Given the description of an element on the screen output the (x, y) to click on. 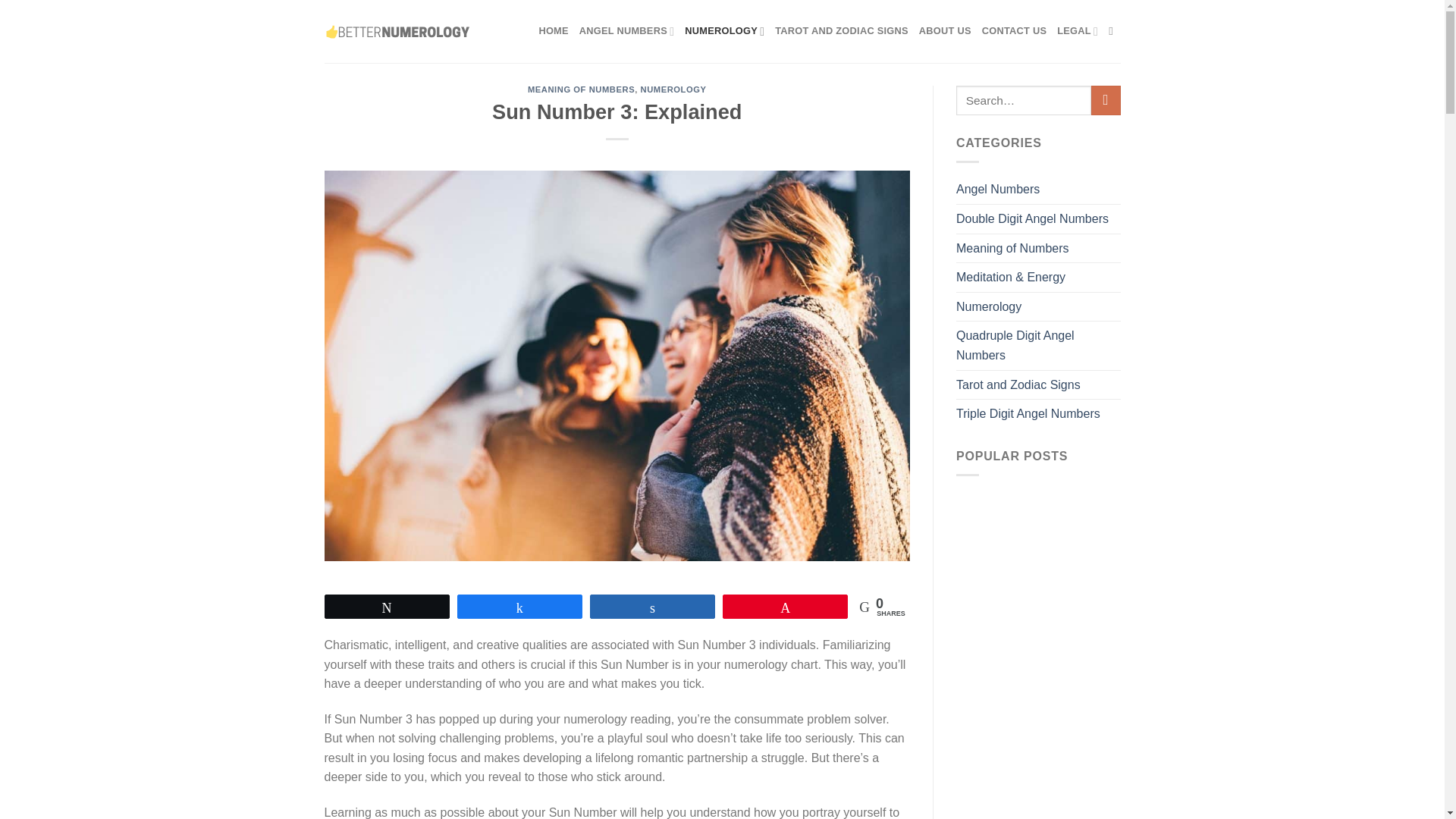
TAROT AND ZODIAC SIGNS (841, 30)
NUMEROLOGY (724, 30)
ABOUT US (944, 30)
HOME (552, 30)
NUMEROLOGY (673, 89)
ANGEL NUMBERS (626, 30)
LEGAL (1077, 30)
CONTACT US (1013, 30)
MEANING OF NUMBERS (580, 89)
